Given the description of an element on the screen output the (x, y) to click on. 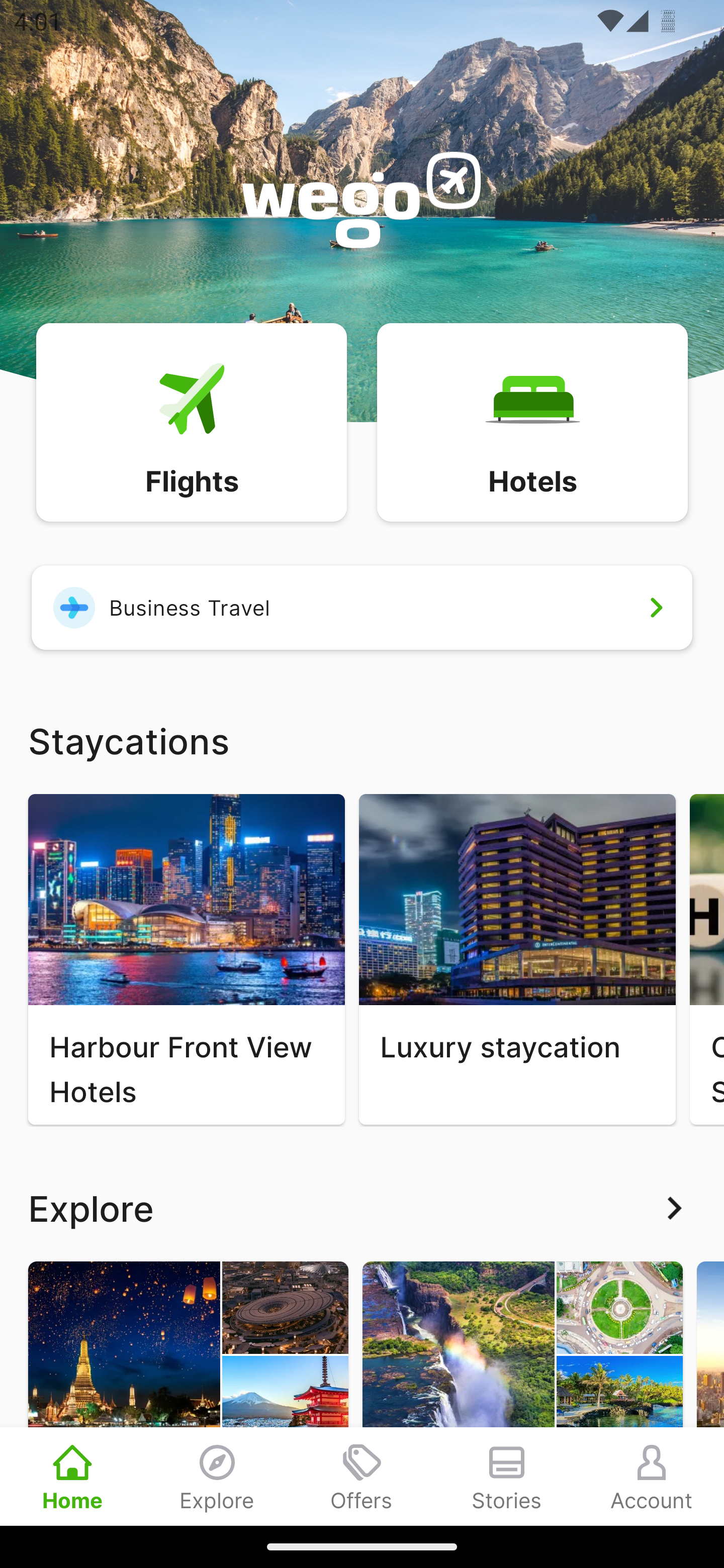
Flights (191, 420)
Hotels (532, 420)
Business Travel (361, 607)
Staycations (362, 739)
Harbour Front View Hotels (186, 958)
Luxury staycation (517, 958)
Explore (362, 1207)
Popular Destinations (188, 1392)
Visa-free Countries (522, 1392)
Explore (216, 1475)
Offers (361, 1475)
Stories (506, 1475)
Account (651, 1475)
